Given the description of an element on the screen output the (x, y) to click on. 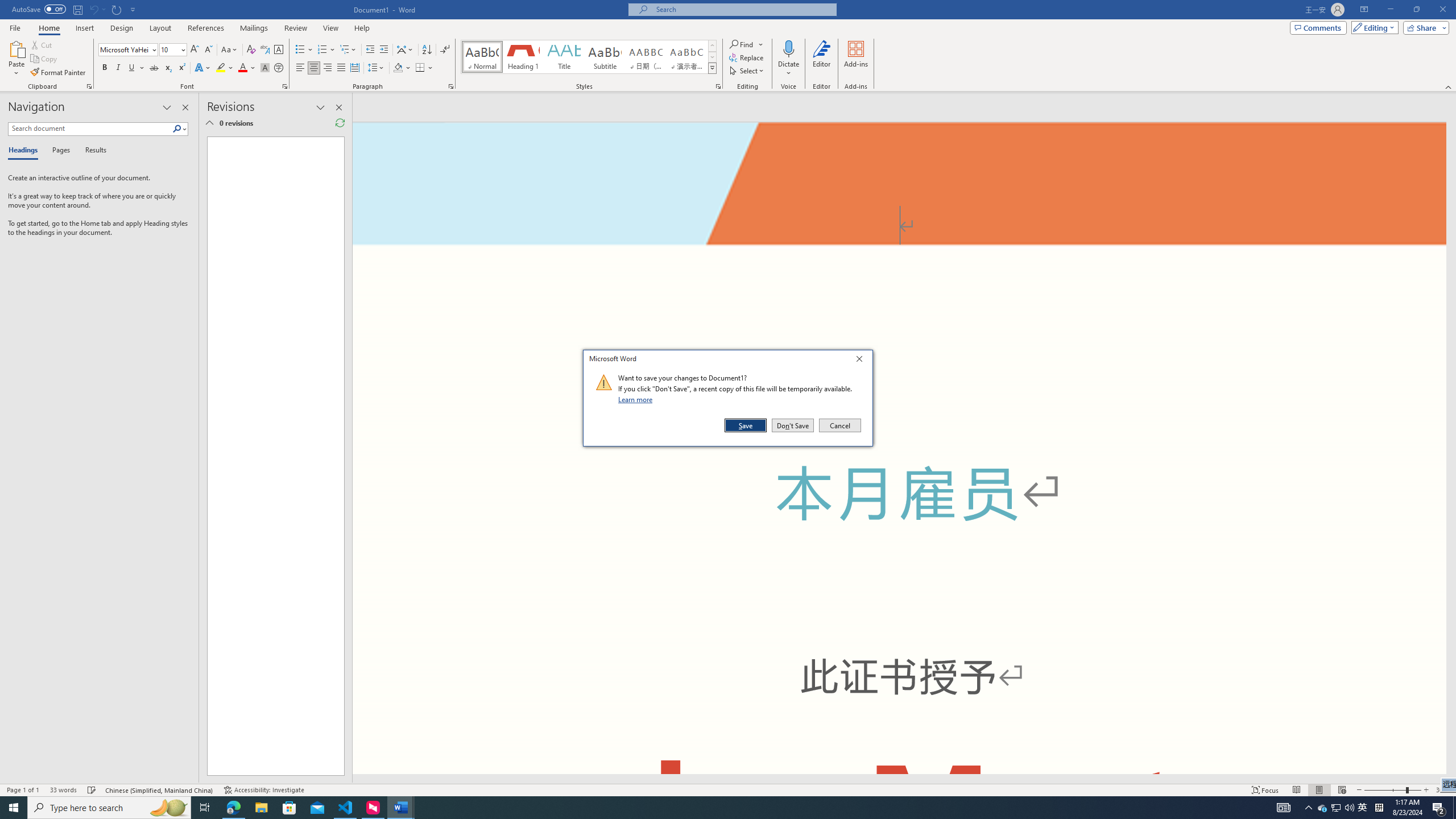
Select (747, 69)
Don't Save (792, 425)
Center (313, 67)
Font Color (246, 67)
Heading 1 (522, 56)
Cut (42, 44)
Notification Chevron (1308, 807)
Page Number Page 1 of 1 (22, 790)
AutomationID: 4105 (1283, 807)
